Given the description of an element on the screen output the (x, y) to click on. 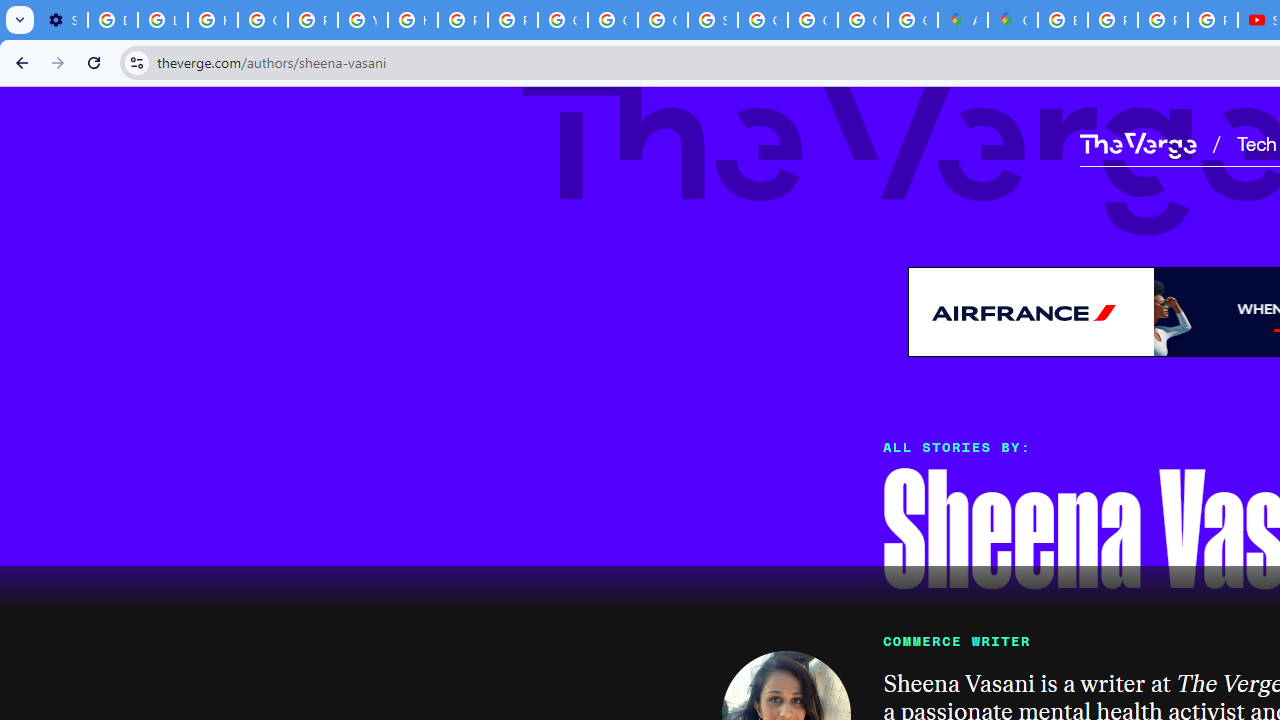
Privacy Help Center - Policies Help (1162, 20)
YouTube (362, 20)
Settings - Customize profile (62, 20)
